Given the description of an element on the screen output the (x, y) to click on. 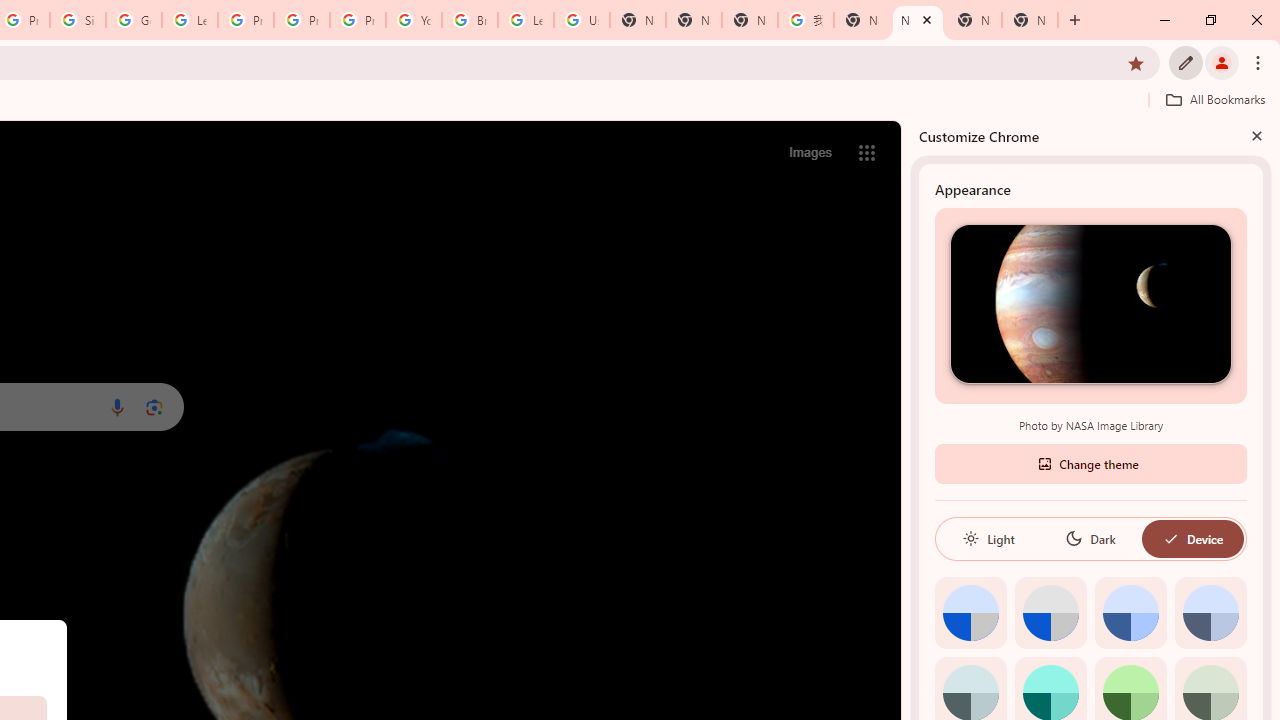
Blue (1130, 612)
New Tab (1030, 20)
Grey default color (1050, 612)
Dark (1090, 538)
Sign in - Google Accounts (77, 20)
Privacy Help Center - Policies Help (301, 20)
Customize Chrome (1185, 62)
